Given the description of an element on the screen output the (x, y) to click on. 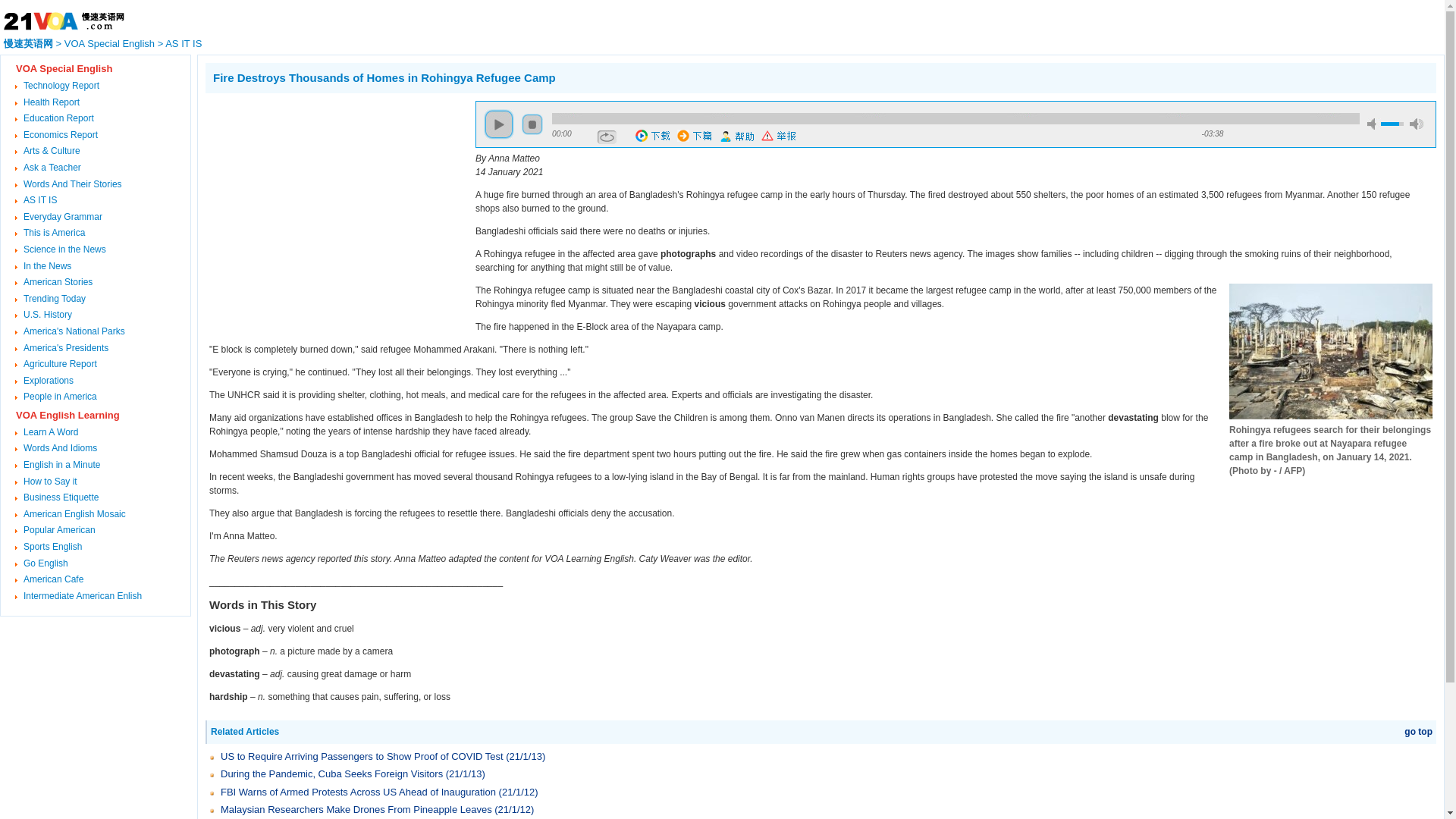
American English Mosaic (74, 513)
Popular American (59, 529)
Technology Report (61, 85)
mute (1373, 123)
Words And Idioms (60, 448)
stop (532, 124)
People in America (60, 396)
Advertisement (332, 206)
Explorations (48, 380)
Everyday Grammar (62, 216)
